Given the description of an element on the screen output the (x, y) to click on. 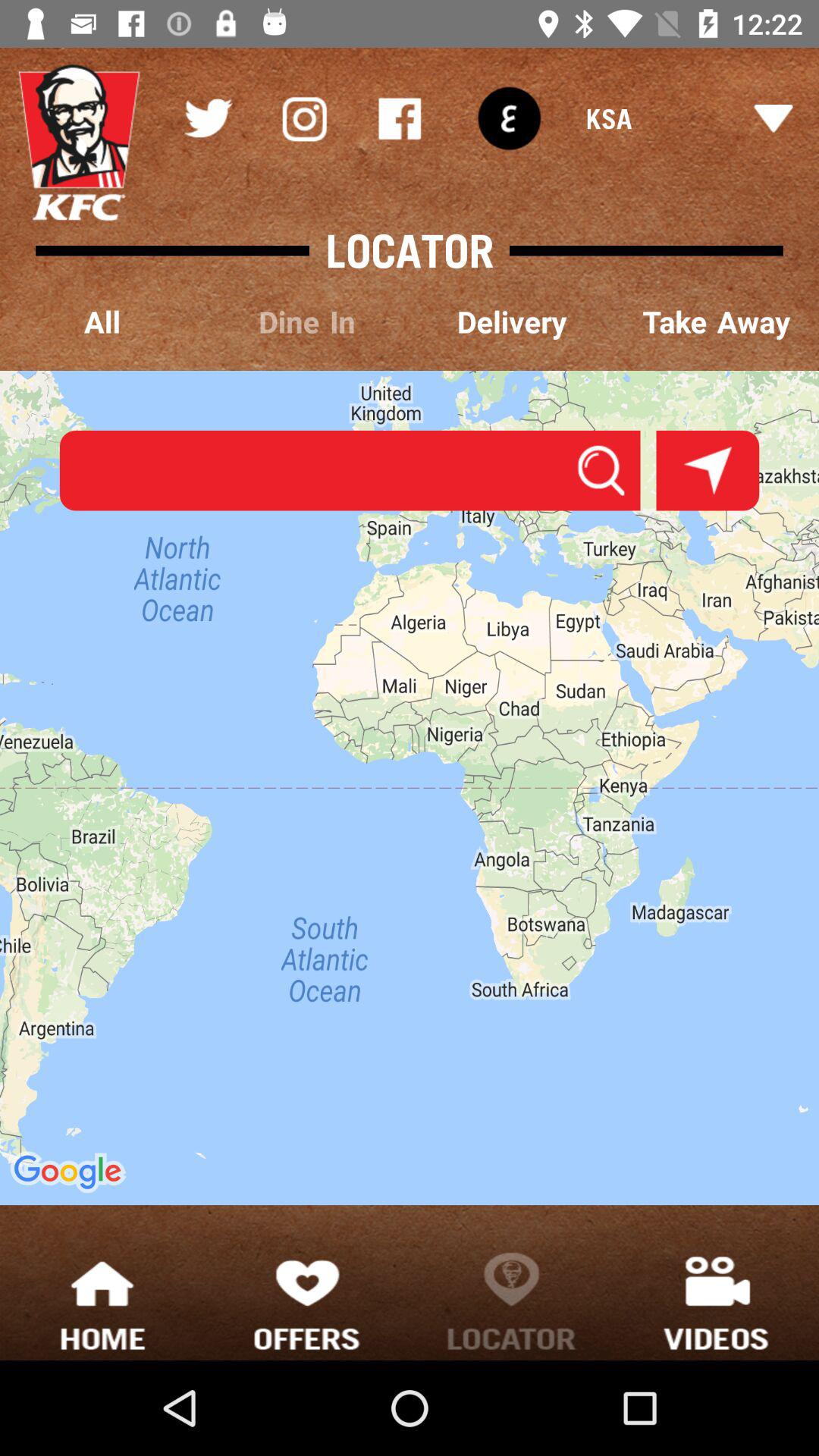
press icon below the locator (306, 322)
